Given the description of an element on the screen output the (x, y) to click on. 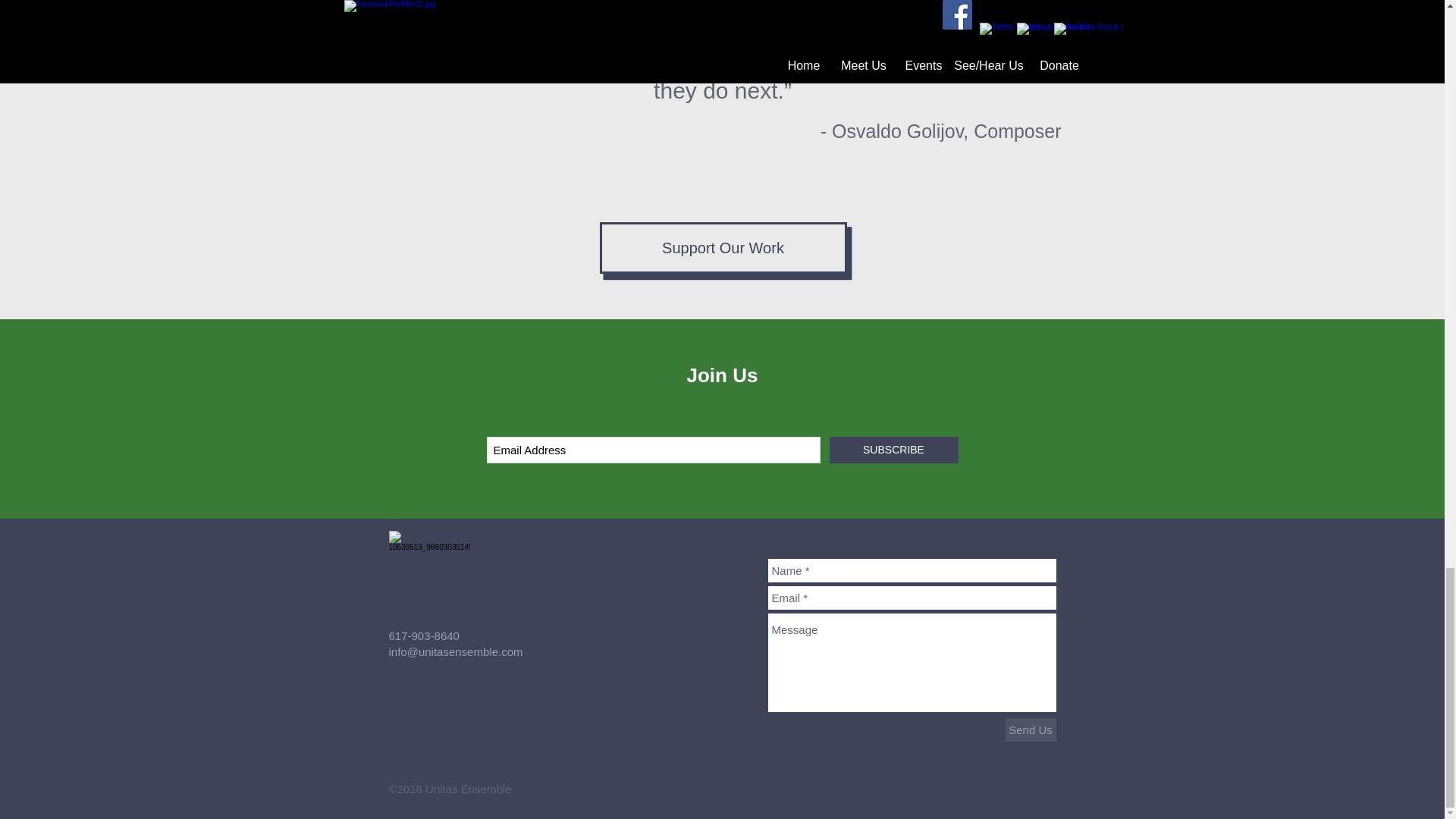
Support Our Work (721, 247)
SUBSCRIBE (893, 449)
Send Us (1031, 730)
